Given the description of an element on the screen output the (x, y) to click on. 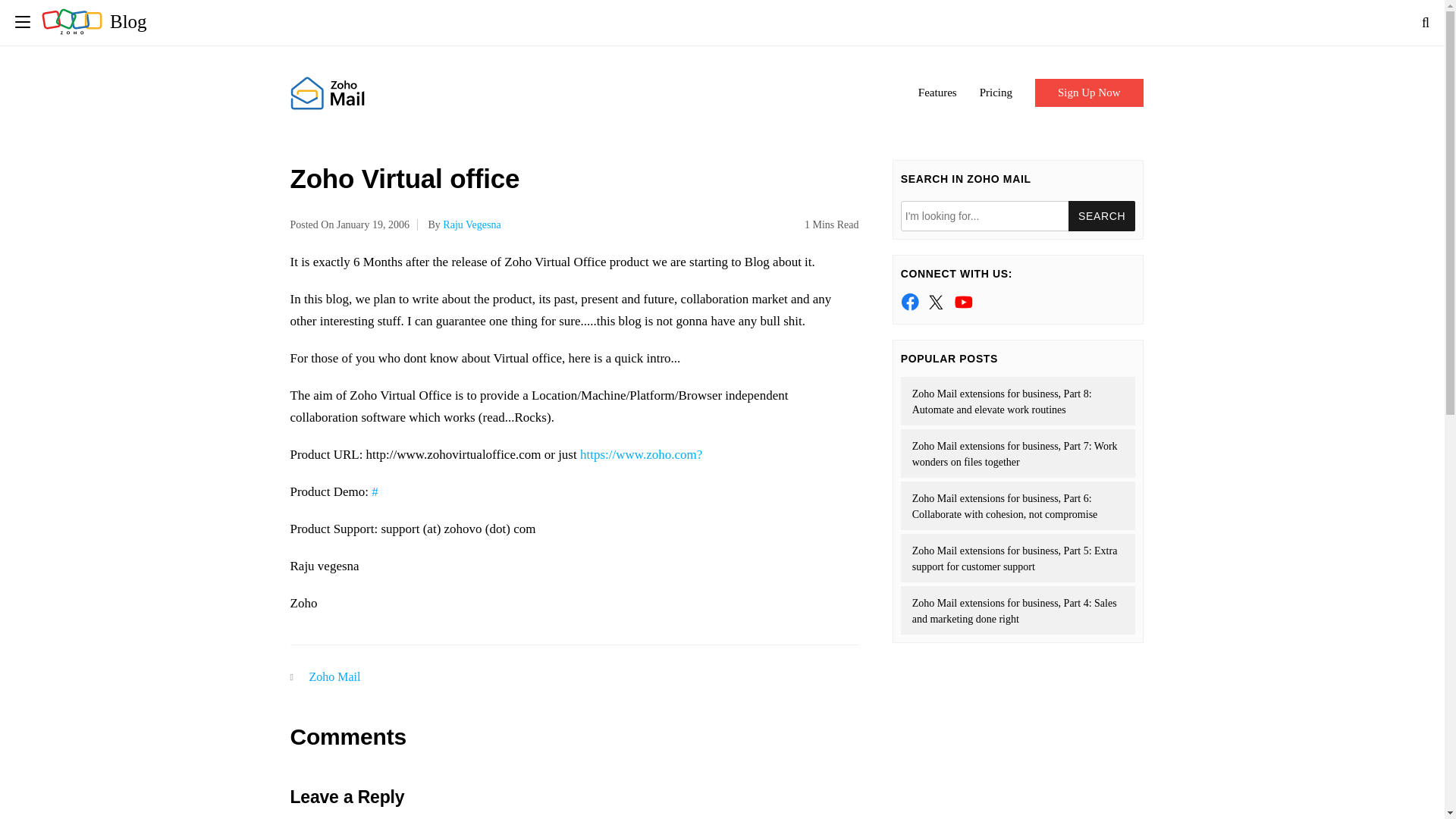
Search (1101, 215)
Zoho Mail (334, 676)
Raju Vegesna (471, 224)
Pricing (995, 92)
Features (937, 92)
Blog (94, 21)
Search (1101, 215)
Sign Up Now (1088, 92)
